Given the description of an element on the screen output the (x, y) to click on. 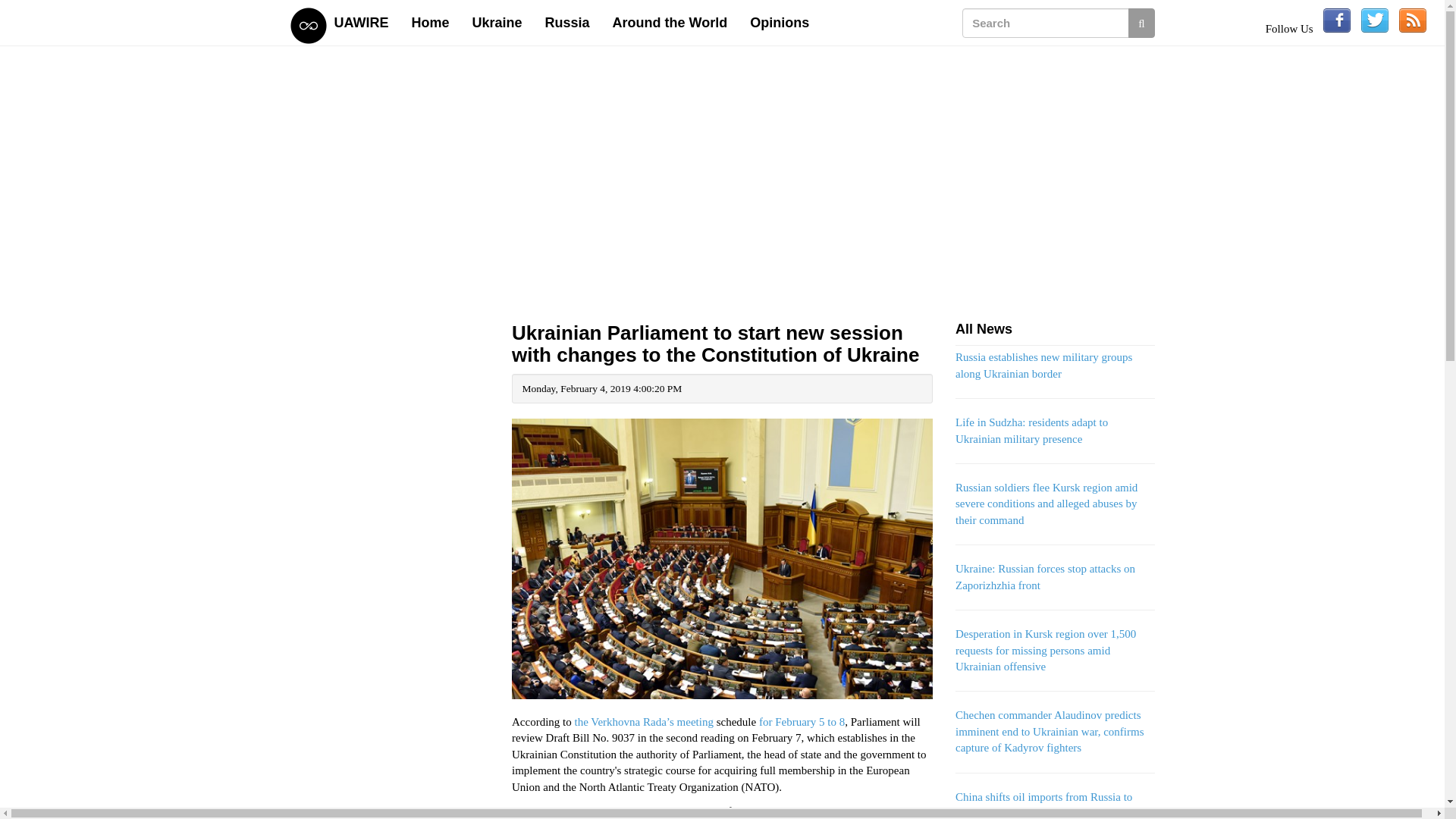
Around the World (670, 22)
Ukraine: Russian forces stop attacks on Zaporizhzhia front (1045, 576)
Follow us on Twitter (1375, 20)
Subscribe to our rss feed (1412, 20)
Ukraine (497, 22)
Advertisement (389, 790)
Russia (567, 22)
UAWIRE (361, 22)
